Given the description of an element on the screen output the (x, y) to click on. 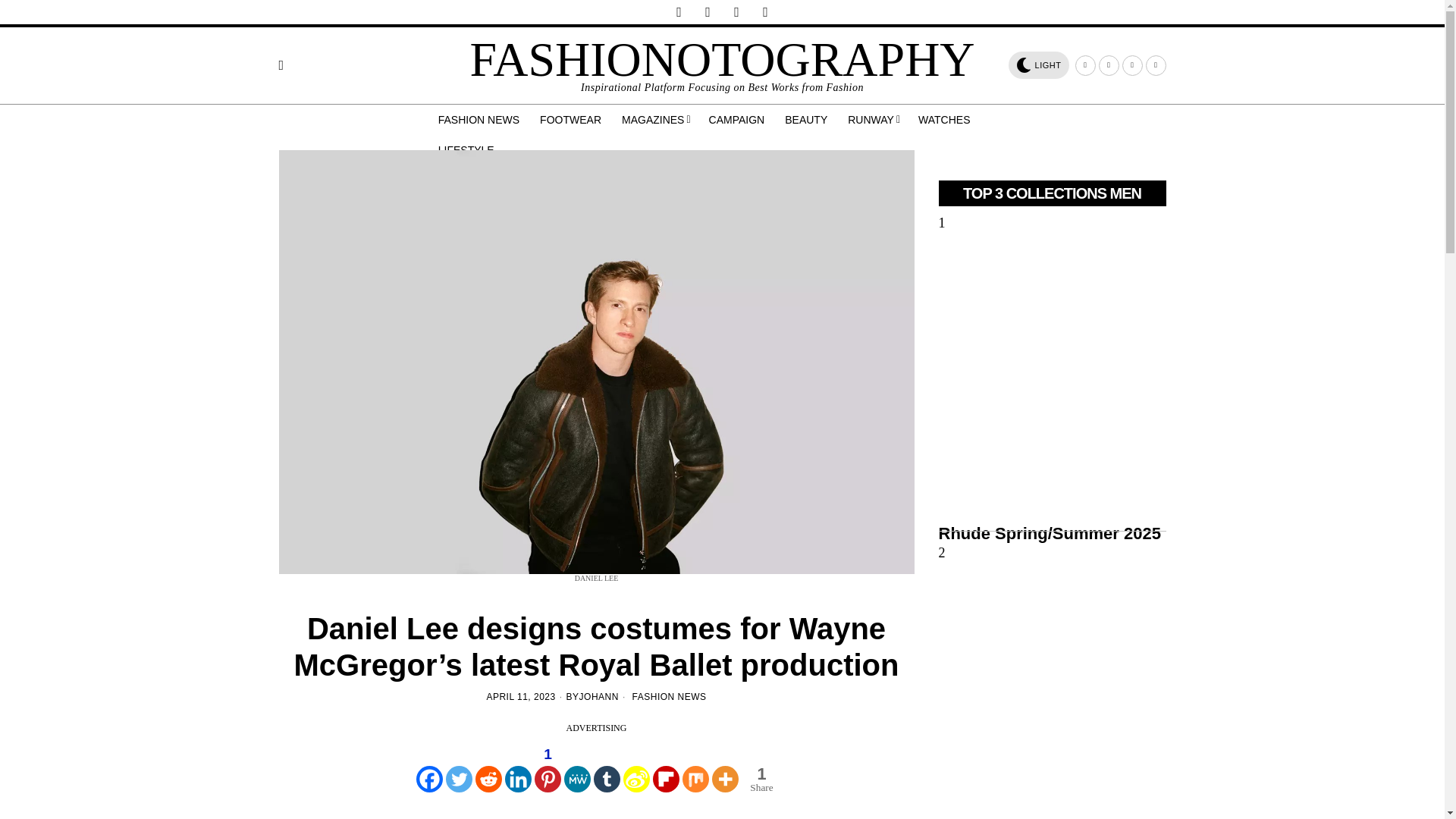
WATCHES (944, 119)
FASHION NEWS (480, 119)
LIFESTYLE (467, 150)
CAMPAIGN (738, 119)
FASHIONOTOGRAPHY (721, 59)
FASHION NEWS (668, 696)
JOHANN (598, 697)
MAGAZINES (656, 119)
FOOTWEAR (571, 119)
